Given the description of an element on the screen output the (x, y) to click on. 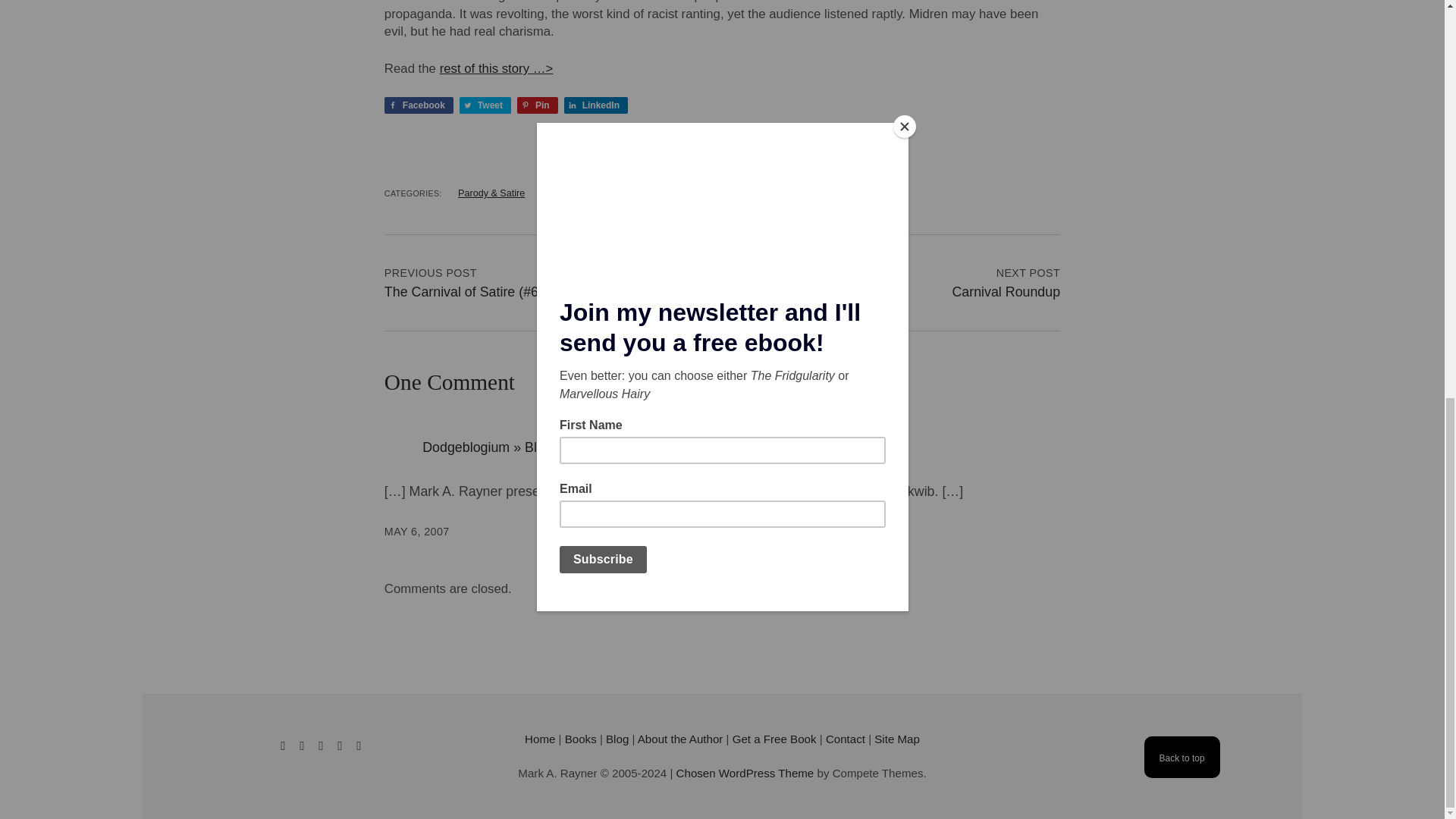
Skwibby fiction (573, 193)
Pin (536, 105)
Carnival Roundup (1005, 291)
Facebook (418, 105)
LinkedIn (595, 105)
Share on Facebook (418, 105)
Tweet (485, 105)
